Given the description of an element on the screen output the (x, y) to click on. 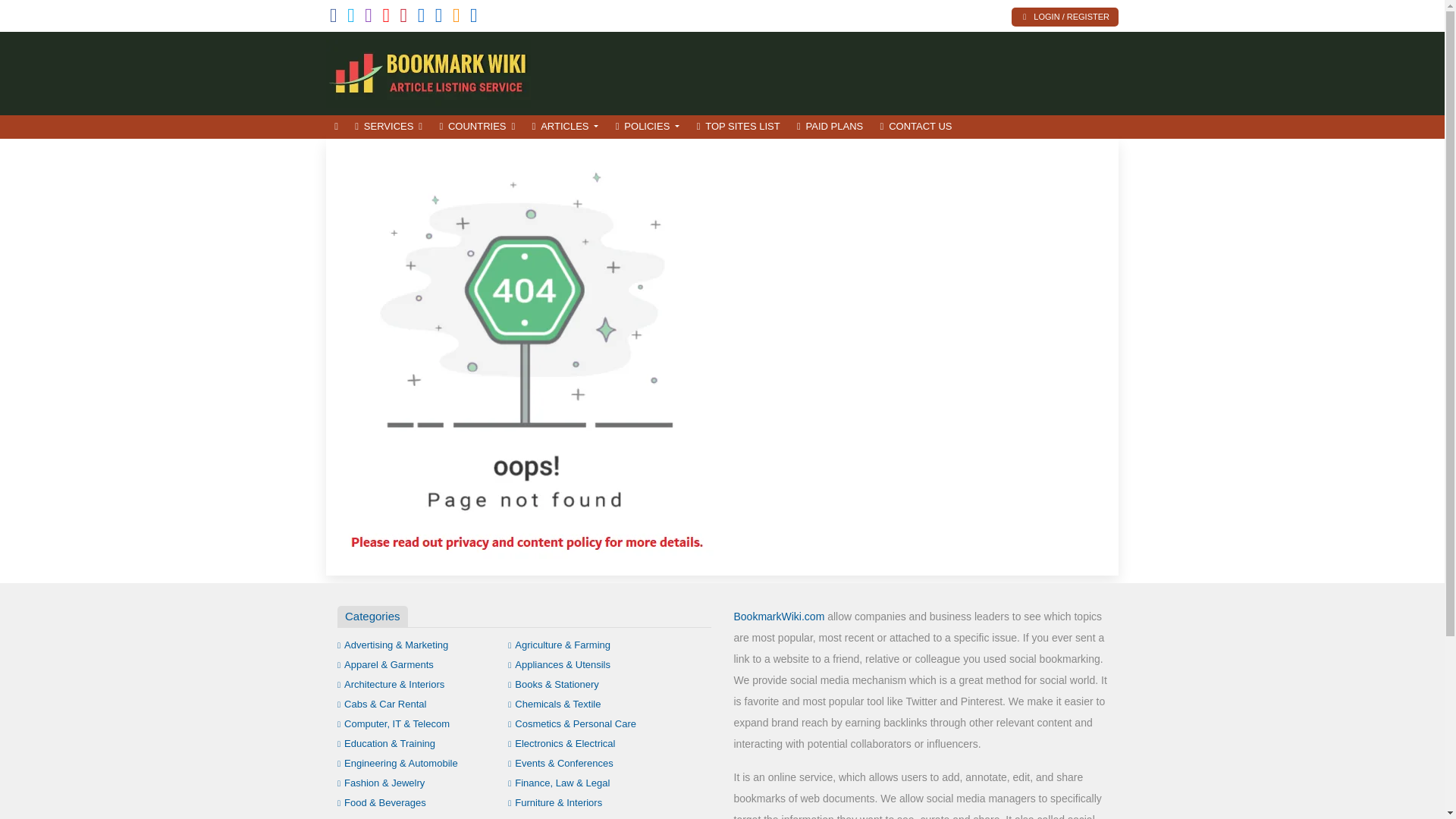
SERVICES (388, 126)
Dofollow Social Bookmarking and Directory Submission Service (428, 71)
